Given the description of an element on the screen output the (x, y) to click on. 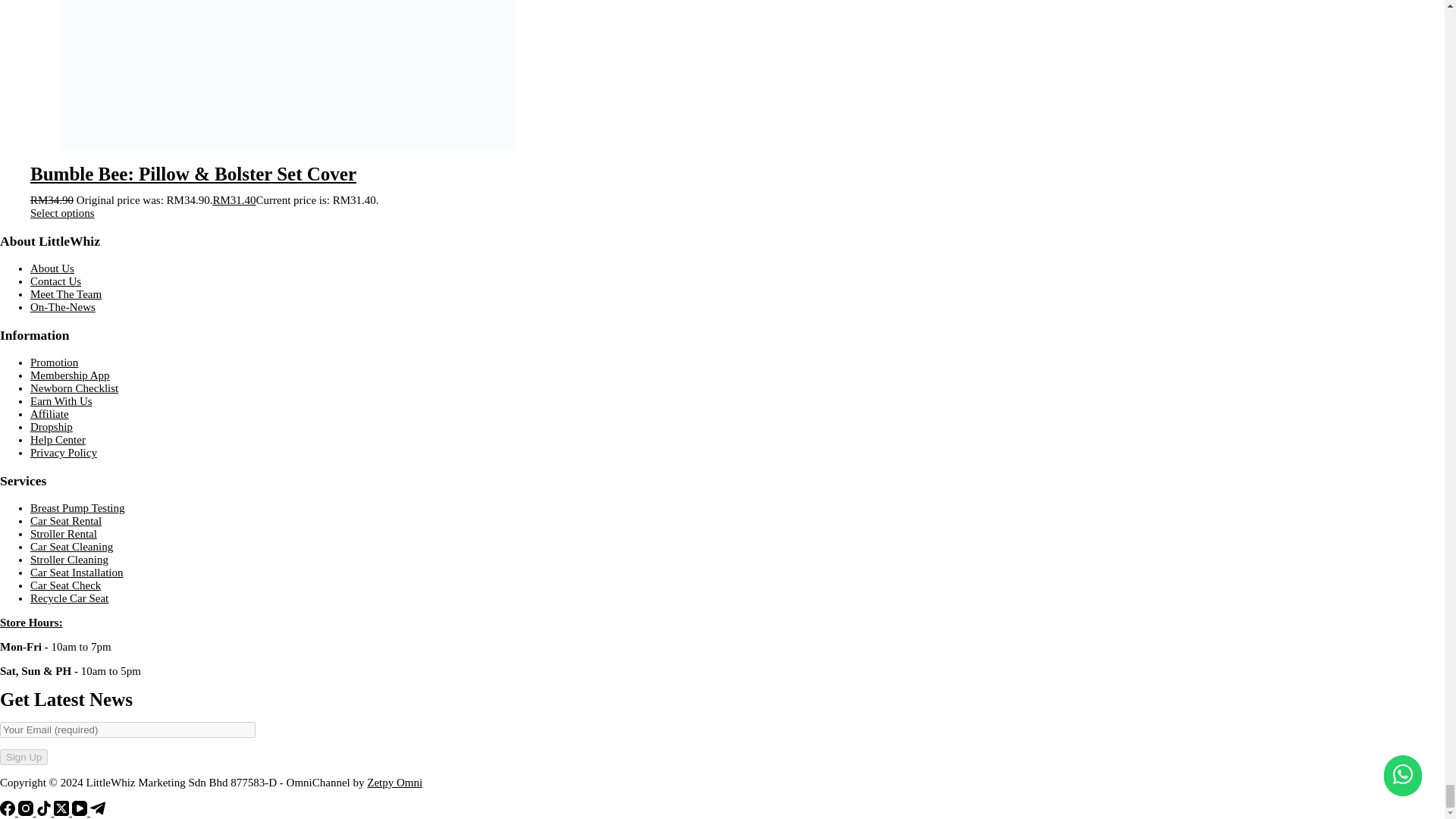
Sign Up (24, 756)
